Given the description of an element on the screen output the (x, y) to click on. 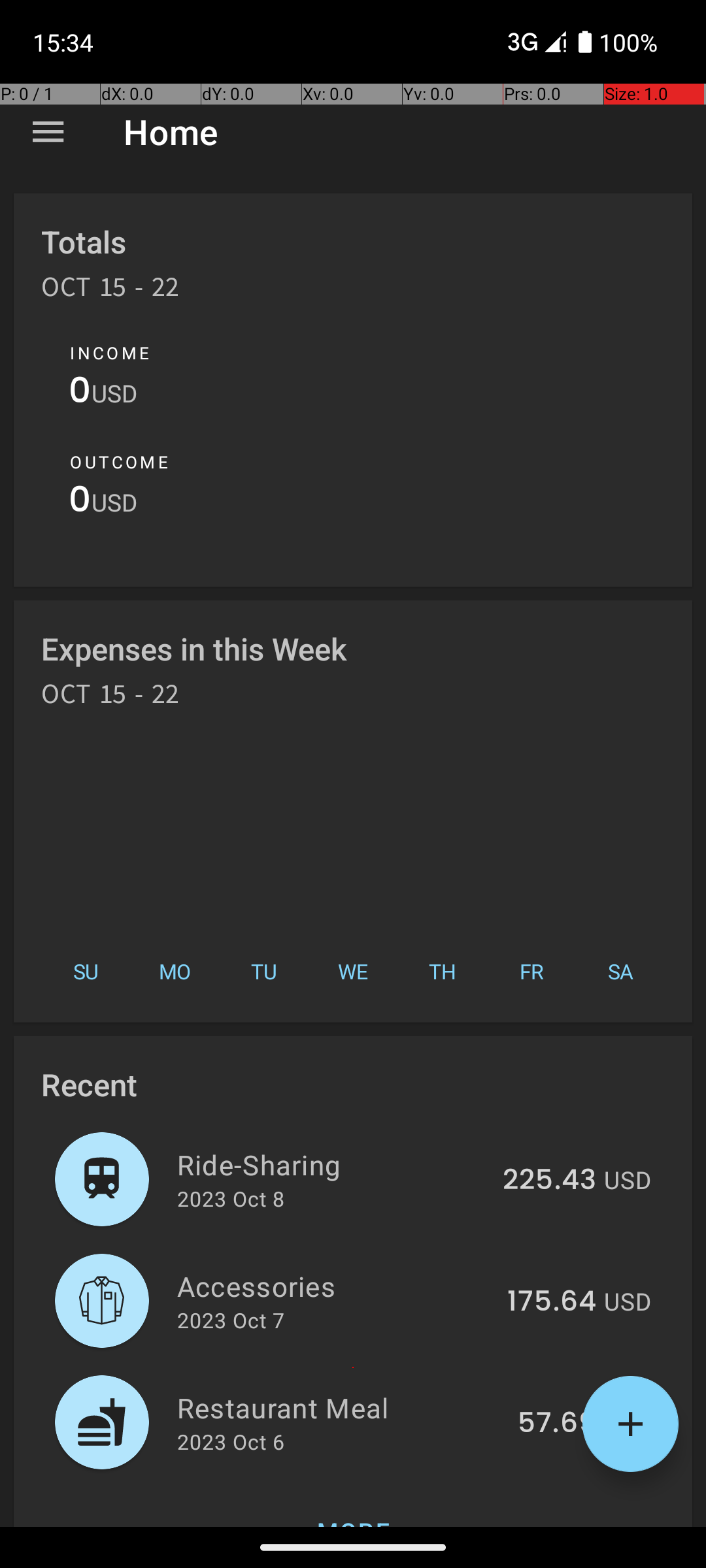
MORE Element type: android.widget.Button (352, 1504)
Ride-Sharing Element type: android.widget.TextView (332, 1164)
2023 Oct 8 Element type: android.widget.TextView (230, 1198)
225.43 Element type: android.widget.TextView (549, 1180)
Accessories Element type: android.widget.TextView (334, 1285)
2023 Oct 7 Element type: android.widget.TextView (230, 1320)
175.64 Element type: android.widget.TextView (551, 1301)
Restaurant Meal Element type: android.widget.TextView (339, 1407)
2023 Oct 6 Element type: android.widget.TextView (230, 1441)
57.69 Element type: android.widget.TextView (556, 1423)
